Given the description of an element on the screen output the (x, y) to click on. 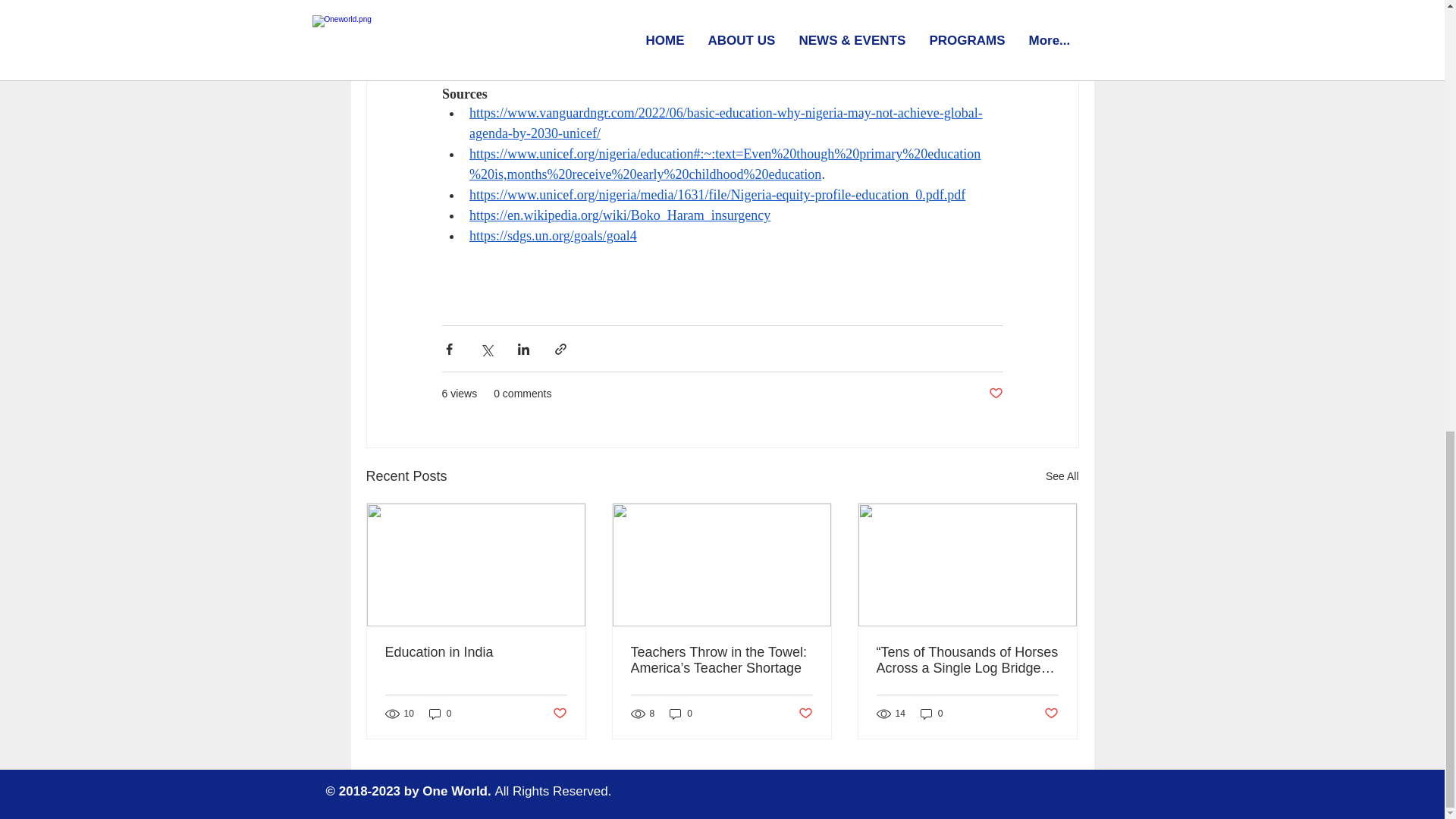
Education in India (476, 652)
Post not marked as liked (995, 393)
0 (931, 713)
0 (681, 713)
0 (440, 713)
Post not marked as liked (804, 713)
See All (1061, 476)
Post not marked as liked (558, 713)
Post not marked as liked (1050, 713)
